Given the description of an element on the screen output the (x, y) to click on. 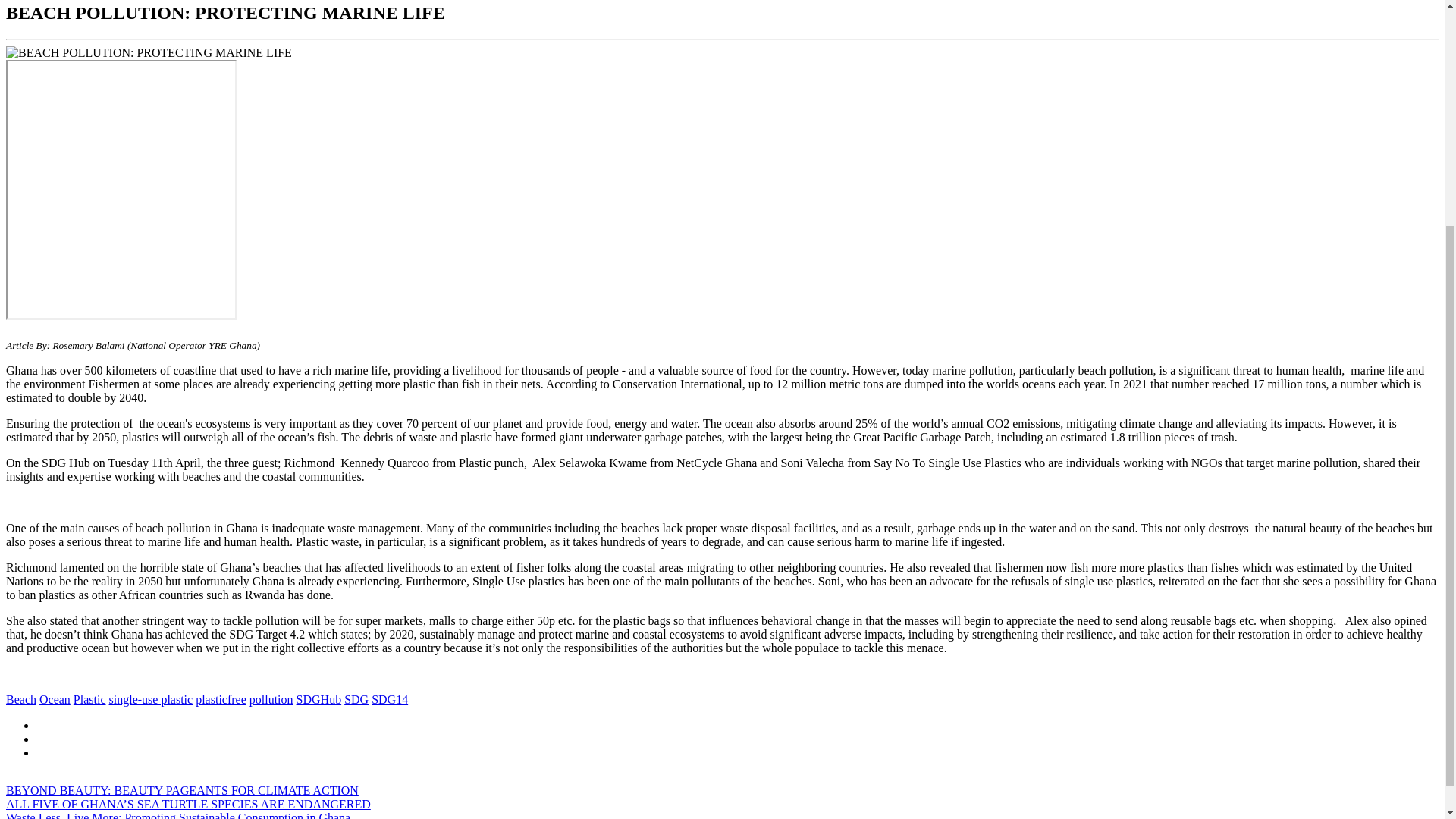
Beach (20, 698)
Plastic (90, 698)
pollution (271, 698)
Tweet (37, 738)
Share on Facebook (37, 725)
SDG14 (389, 698)
Ocean (54, 698)
SDG (355, 698)
SDGHub (319, 698)
plasticfree (220, 698)
Pin it (37, 752)
single-use plastic (151, 698)
